Given the description of an element on the screen output the (x, y) to click on. 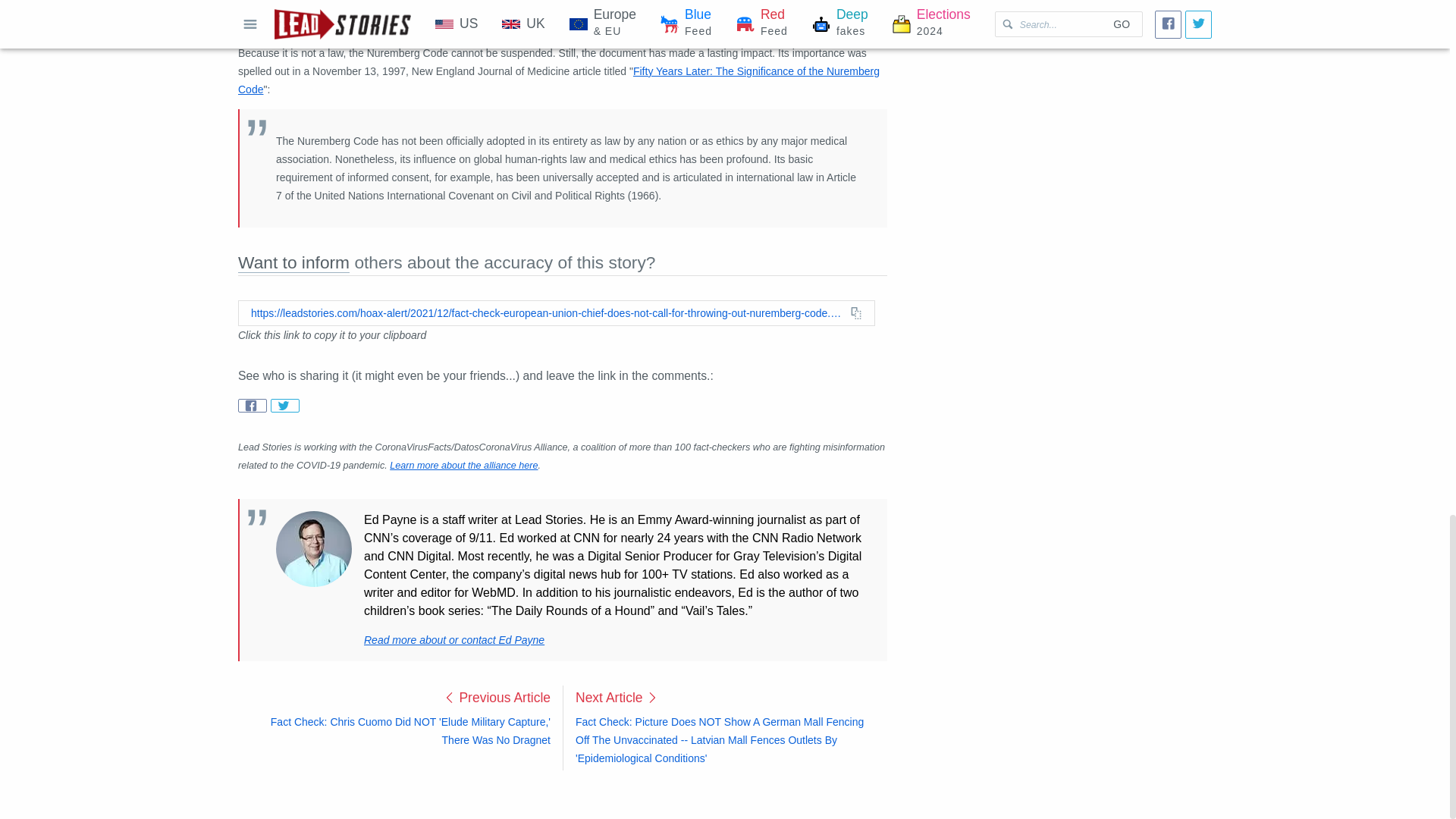
Learn more about the alliance here (463, 465)
Read more about or contact Ed Payne (454, 639)
Fifty Years Later: The Significance of the Nuremberg Code (558, 80)
Food and Drug Administration (515, 24)
